Given the description of an element on the screen output the (x, y) to click on. 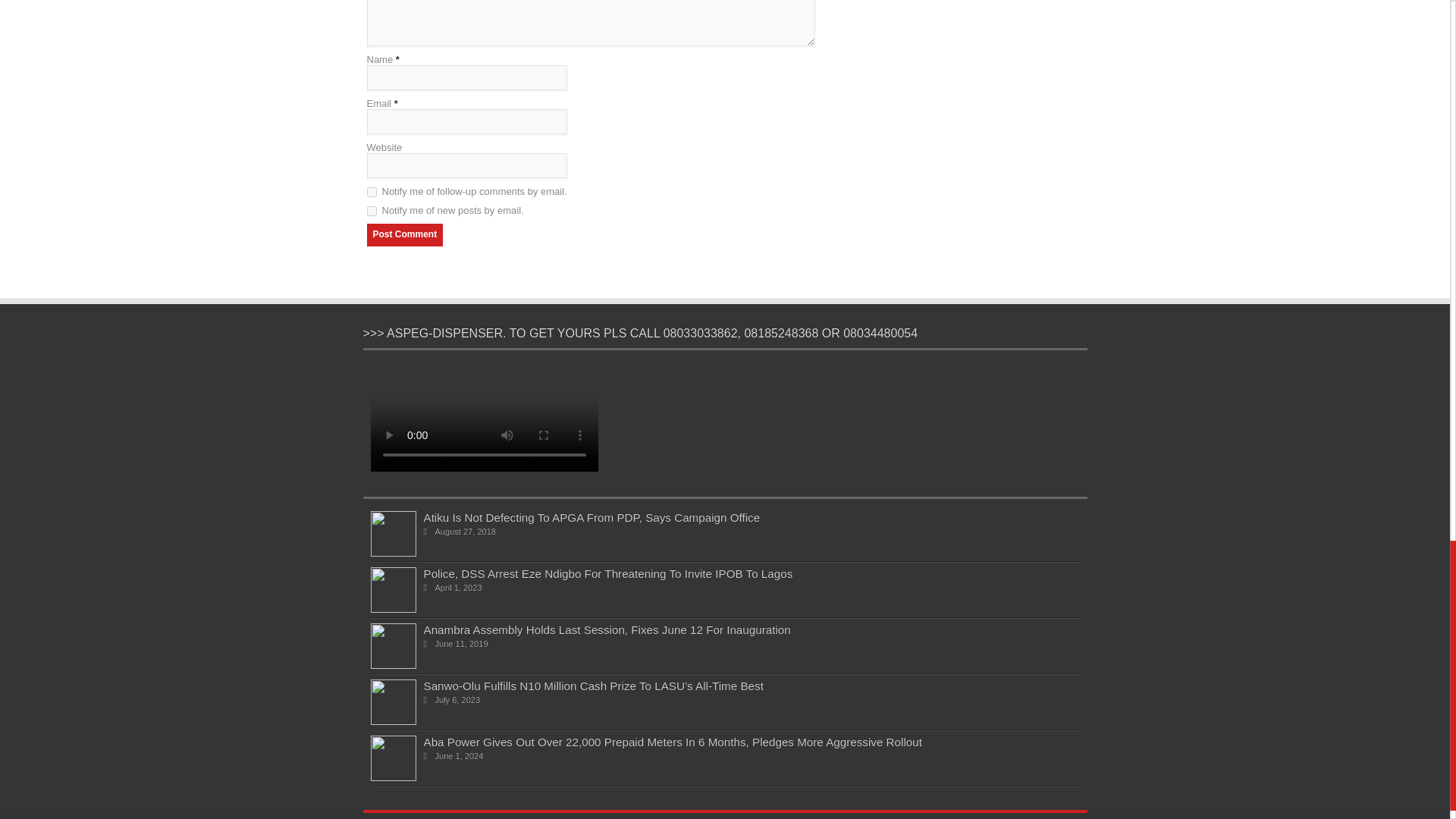
Post Comment (405, 234)
subscribe (371, 211)
subscribe (371, 192)
Post Comment (405, 234)
